Given the description of an element on the screen output the (x, y) to click on. 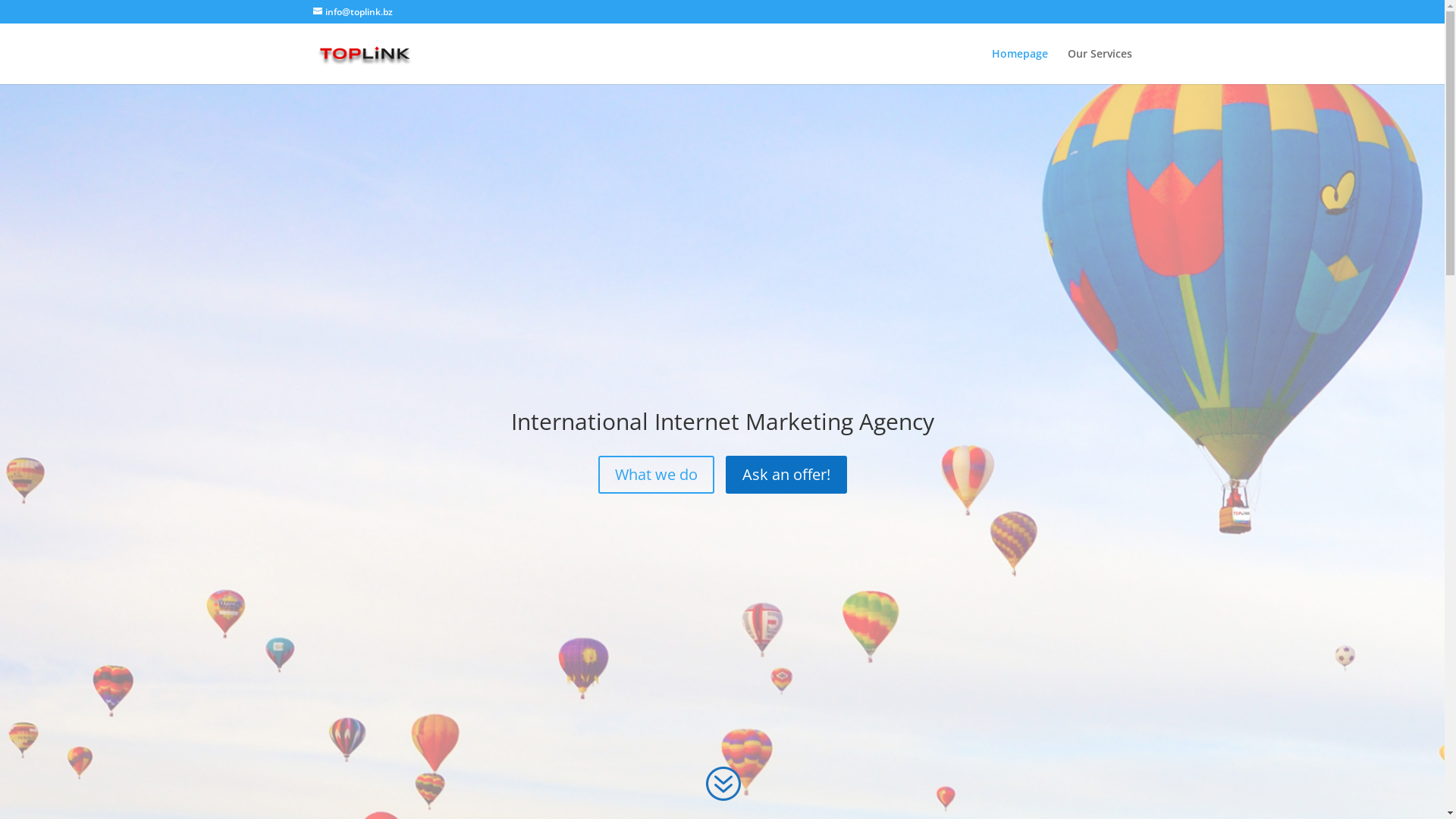
Ask an offer! Element type: text (785, 473)
? Element type: text (721, 783)
info@toplink.bz Element type: text (352, 11)
Our Services Element type: text (1099, 66)
Homepage Element type: text (1019, 66)
What we do Element type: text (655, 473)
